Given the description of an element on the screen output the (x, y) to click on. 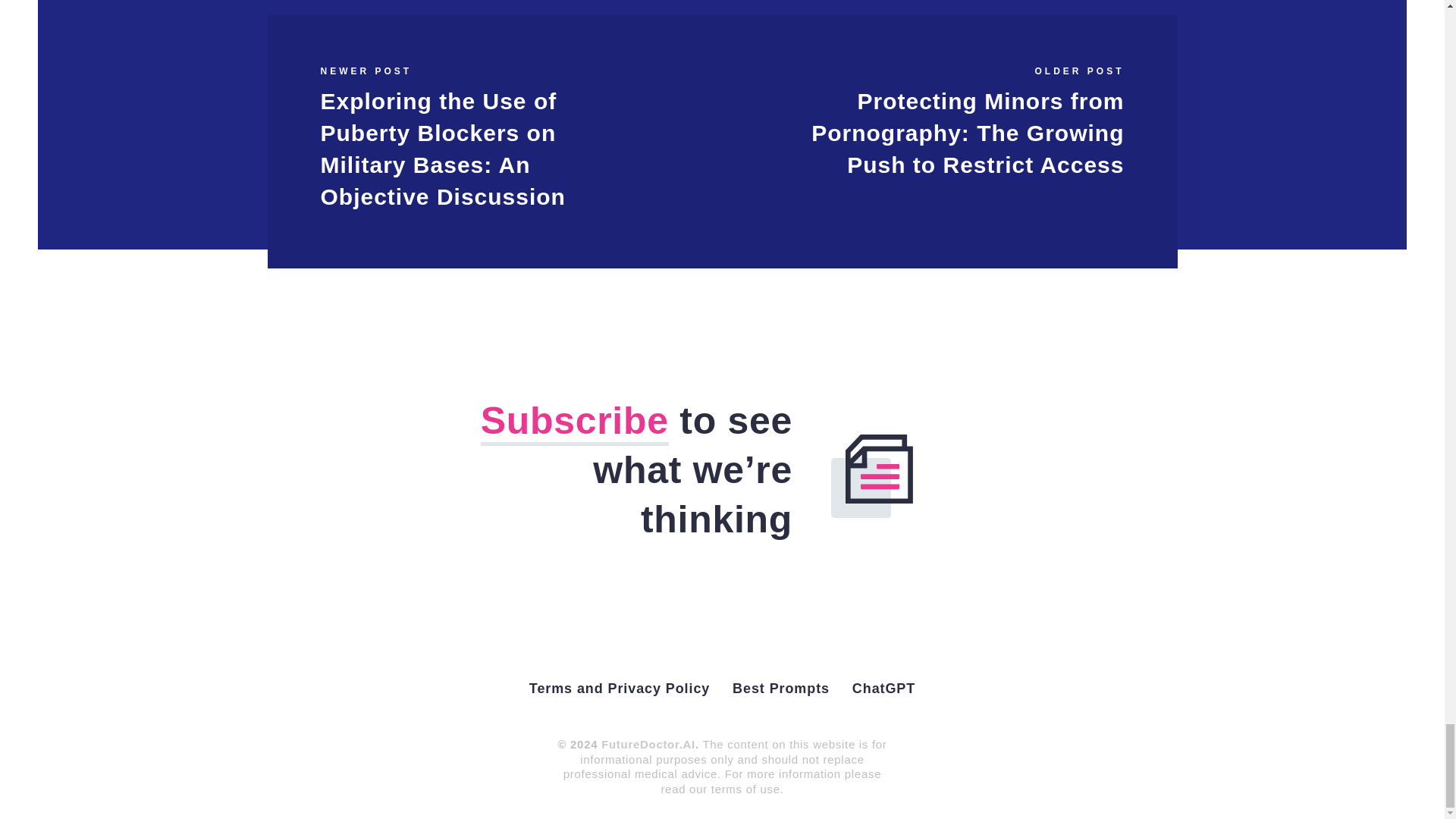
FutureDoctor.AI (648, 744)
Subscribe (574, 422)
Best Prompts (780, 688)
Terms and Privacy Policy (619, 688)
ChatGPT (883, 688)
